Given the description of an element on the screen output the (x, y) to click on. 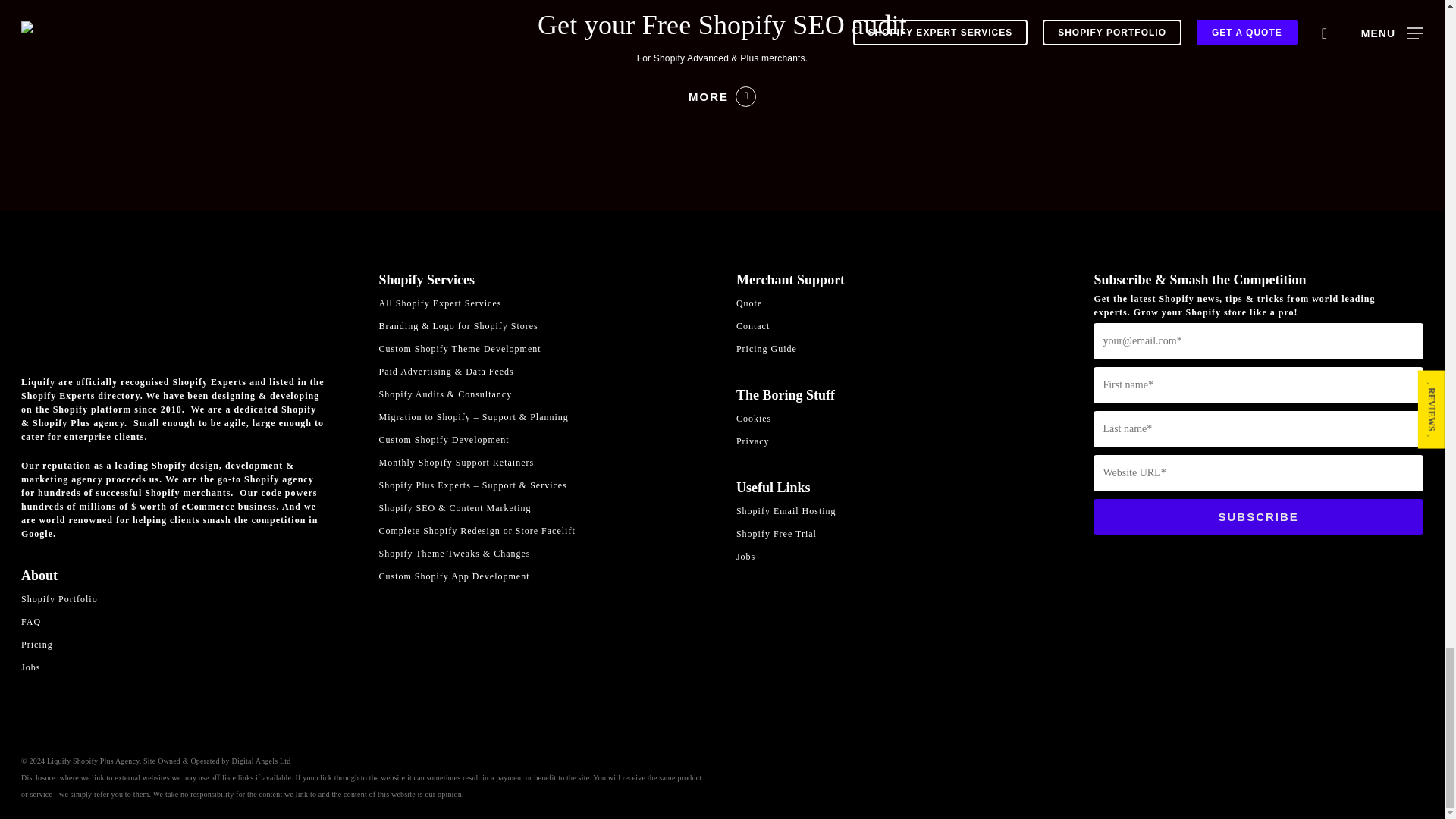
Pricing for Shopify Experts (185, 644)
Shopify Free Trial (900, 533)
Subscribe (1258, 516)
